Given the description of an element on the screen output the (x, y) to click on. 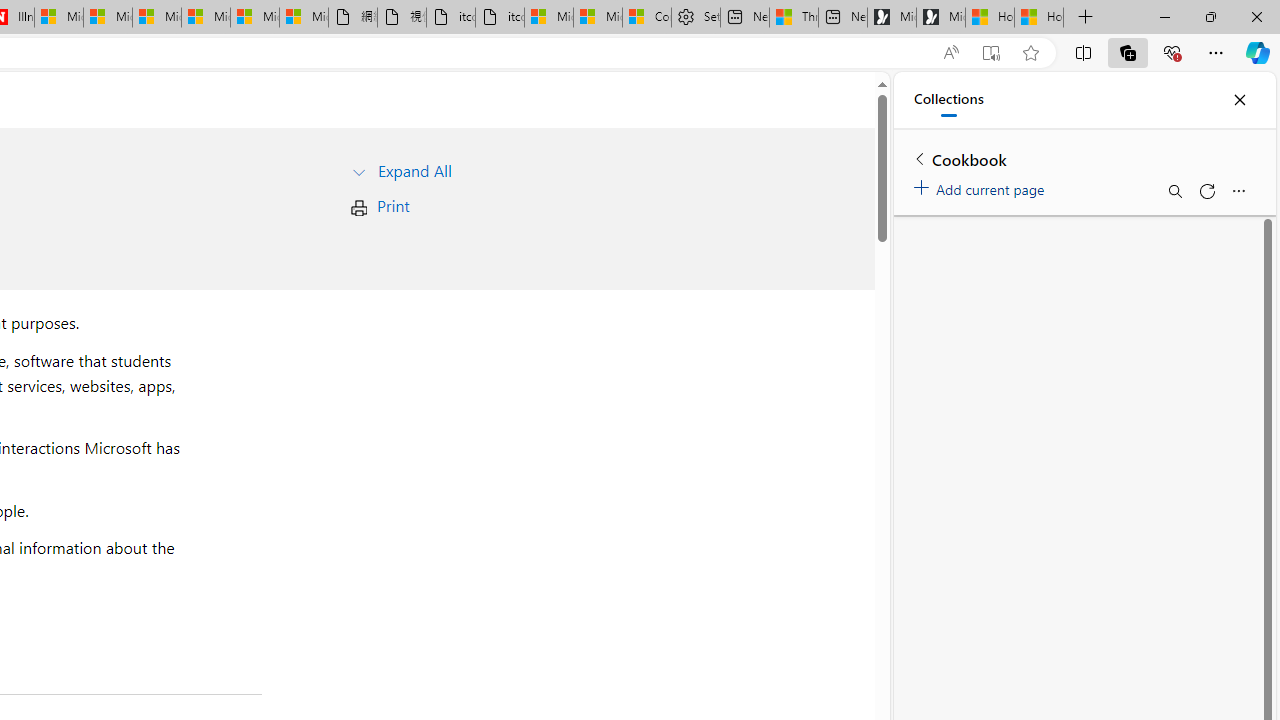
Consumer Health Data Privacy Policy (646, 17)
How to Use a TV as a Computer Monitor (1039, 17)
Print (392, 205)
